Given the description of an element on the screen output the (x, y) to click on. 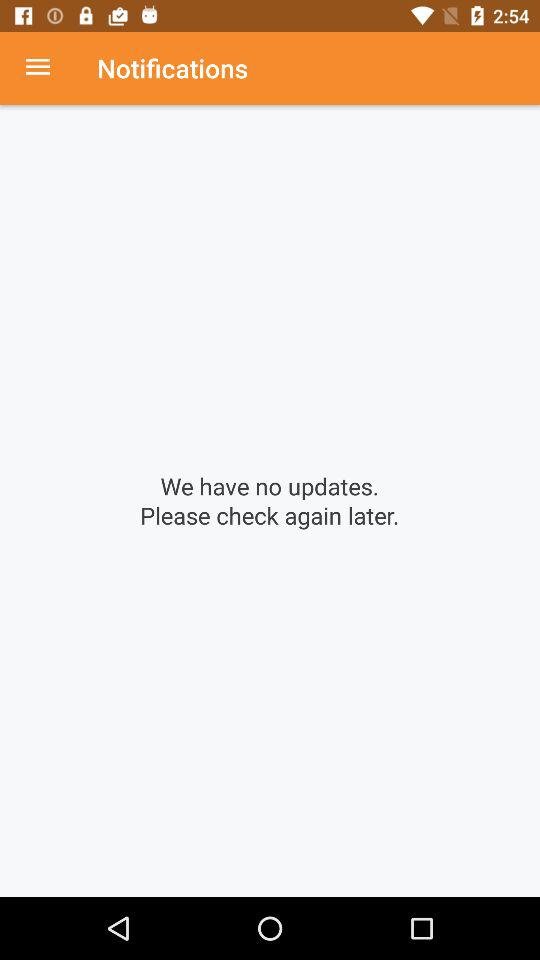
open menu up (48, 67)
